Given the description of an element on the screen output the (x, y) to click on. 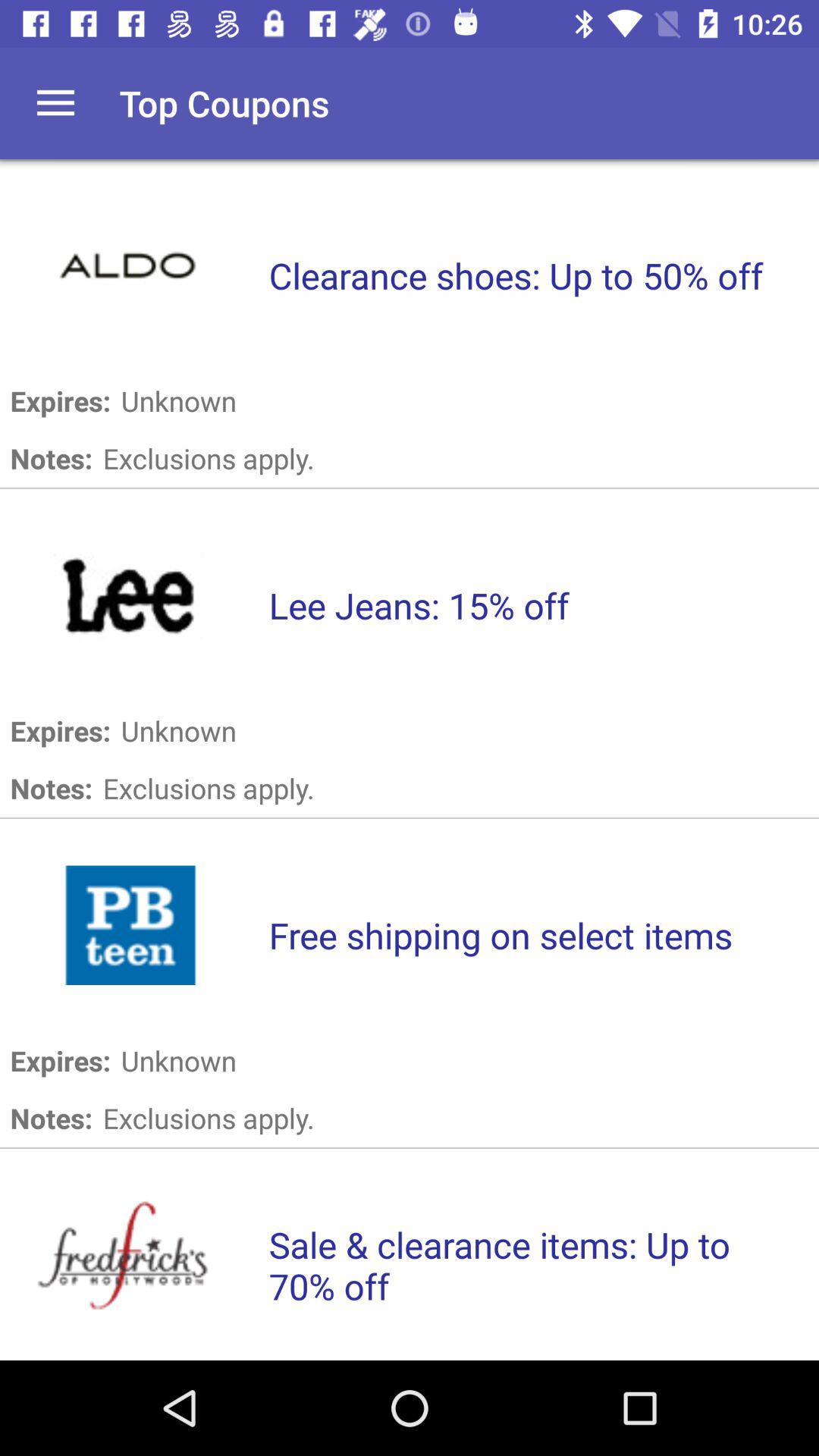
open main menu (55, 103)
